Given the description of an element on the screen output the (x, y) to click on. 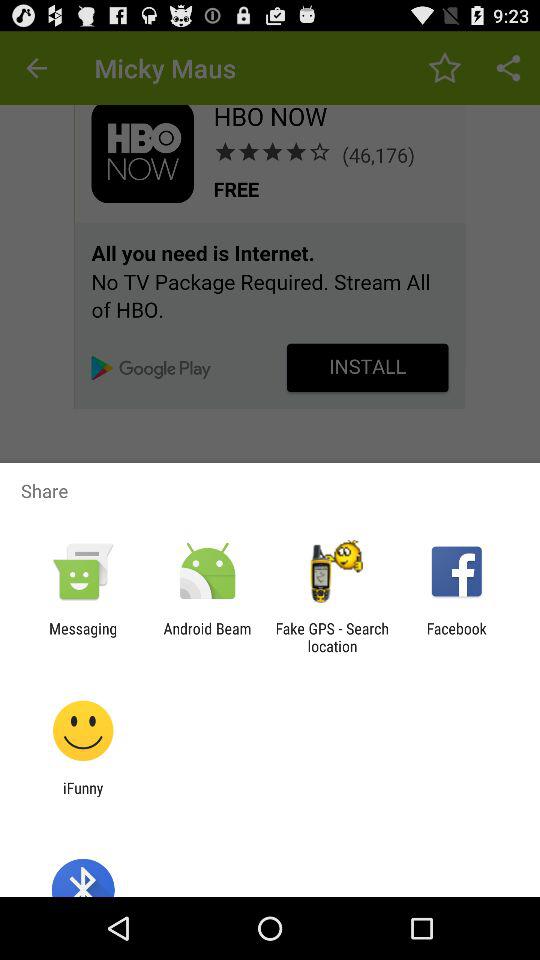
choose the item next to messaging app (207, 637)
